Given the description of an element on the screen output the (x, y) to click on. 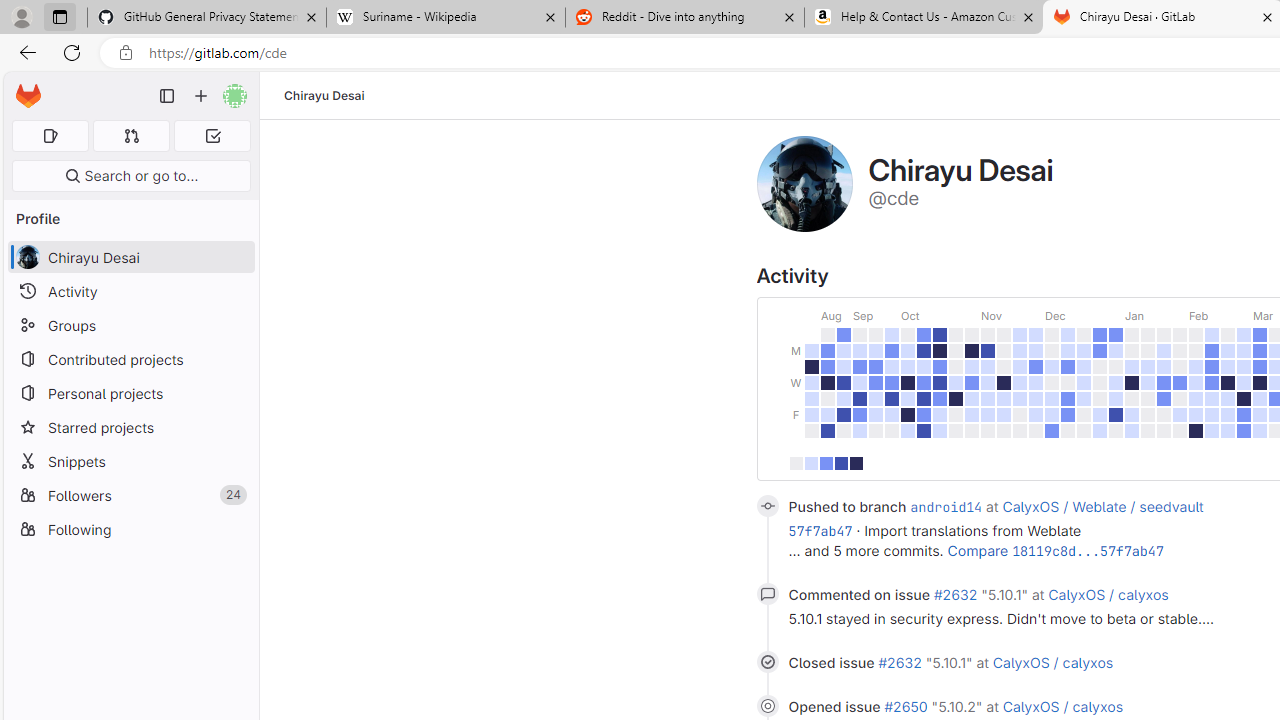
Compare 18119c8d...57f7ab47 (1055, 550)
Skip to main content (23, 87)
57f7ab47 (820, 531)
Reddit - Dive into anything (684, 17)
